Given the description of an element on the screen output the (x, y) to click on. 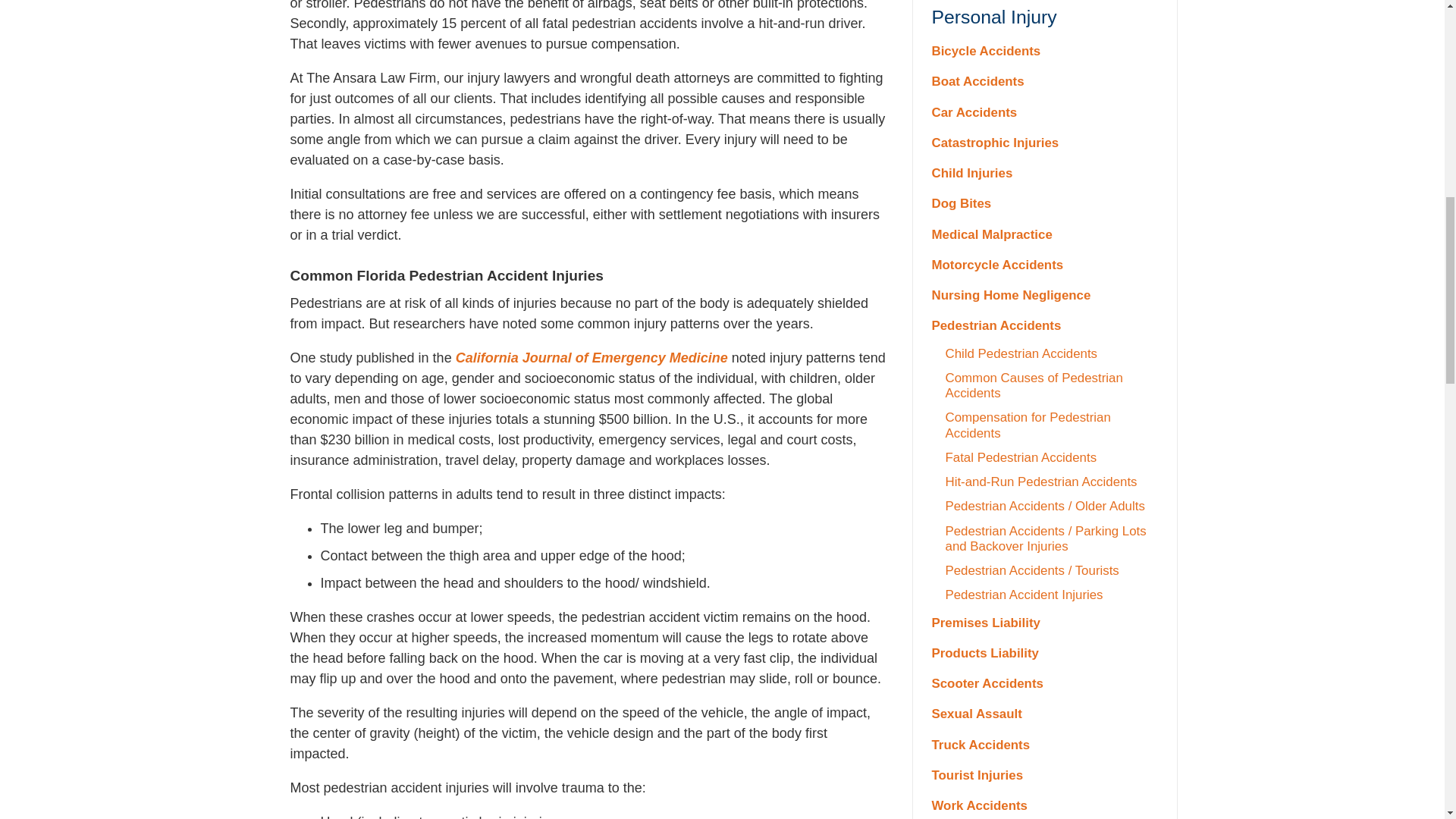
Personal Injury (1044, 16)
Catastrophic Injuries (1044, 142)
Boat Accidents (1044, 81)
Medical Malpractice (1044, 235)
Motorcycle Accidents (1044, 265)
Dog Bites (1044, 204)
Nursing Home Negligence (1044, 295)
California Journal of Emergency Medicine (591, 357)
Child Injuries (1044, 173)
Car Accidents (1044, 112)
